Given the description of an element on the screen output the (x, y) to click on. 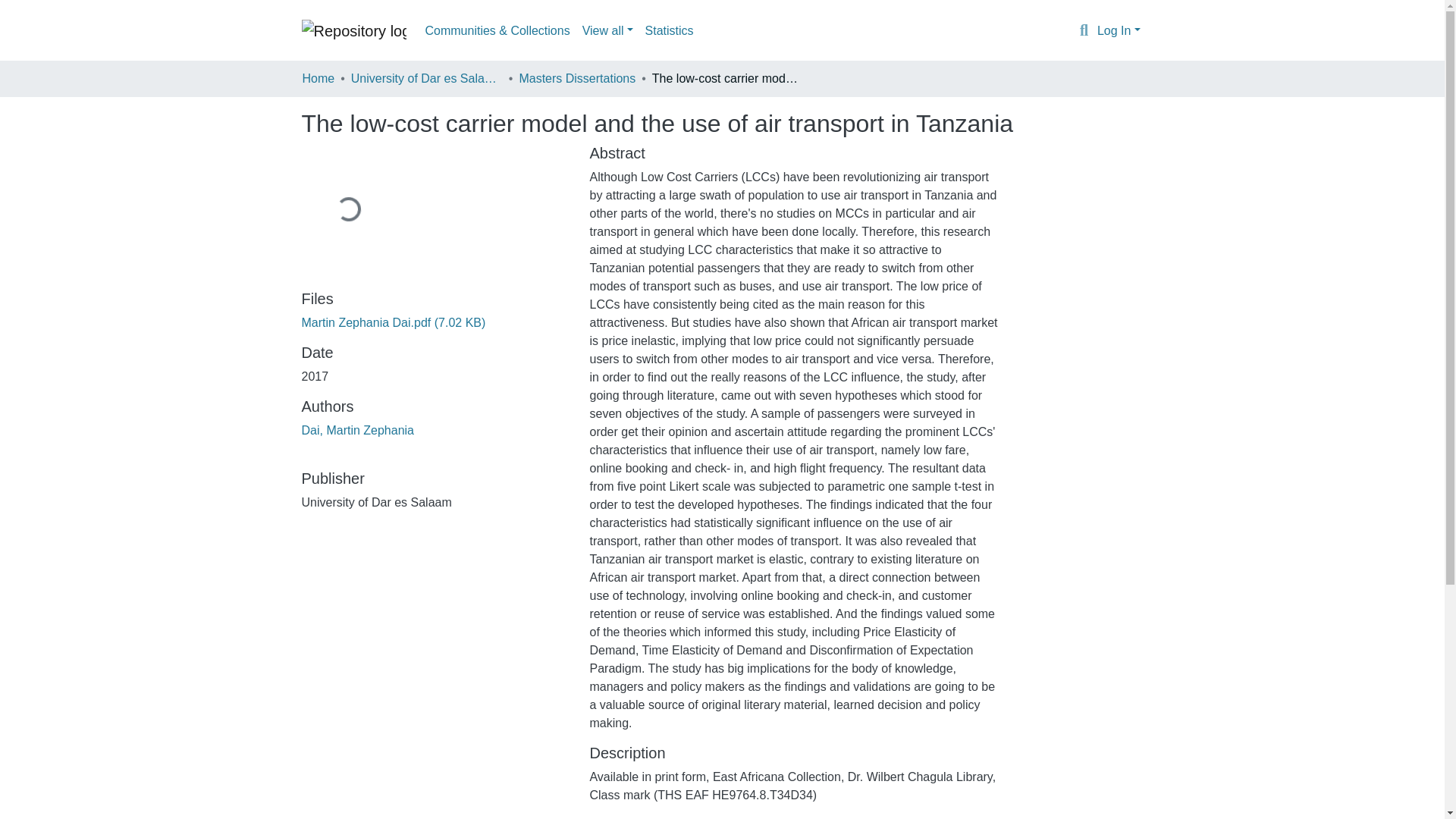
University of Dar es Salaam Business School (426, 78)
Statistics (669, 30)
Home (317, 78)
Statistics (669, 30)
Dai, Martin Zephania (357, 430)
View all (607, 30)
Masters Dissertations (576, 78)
Log In (1118, 30)
Search (1084, 30)
